Given the description of an element on the screen output the (x, y) to click on. 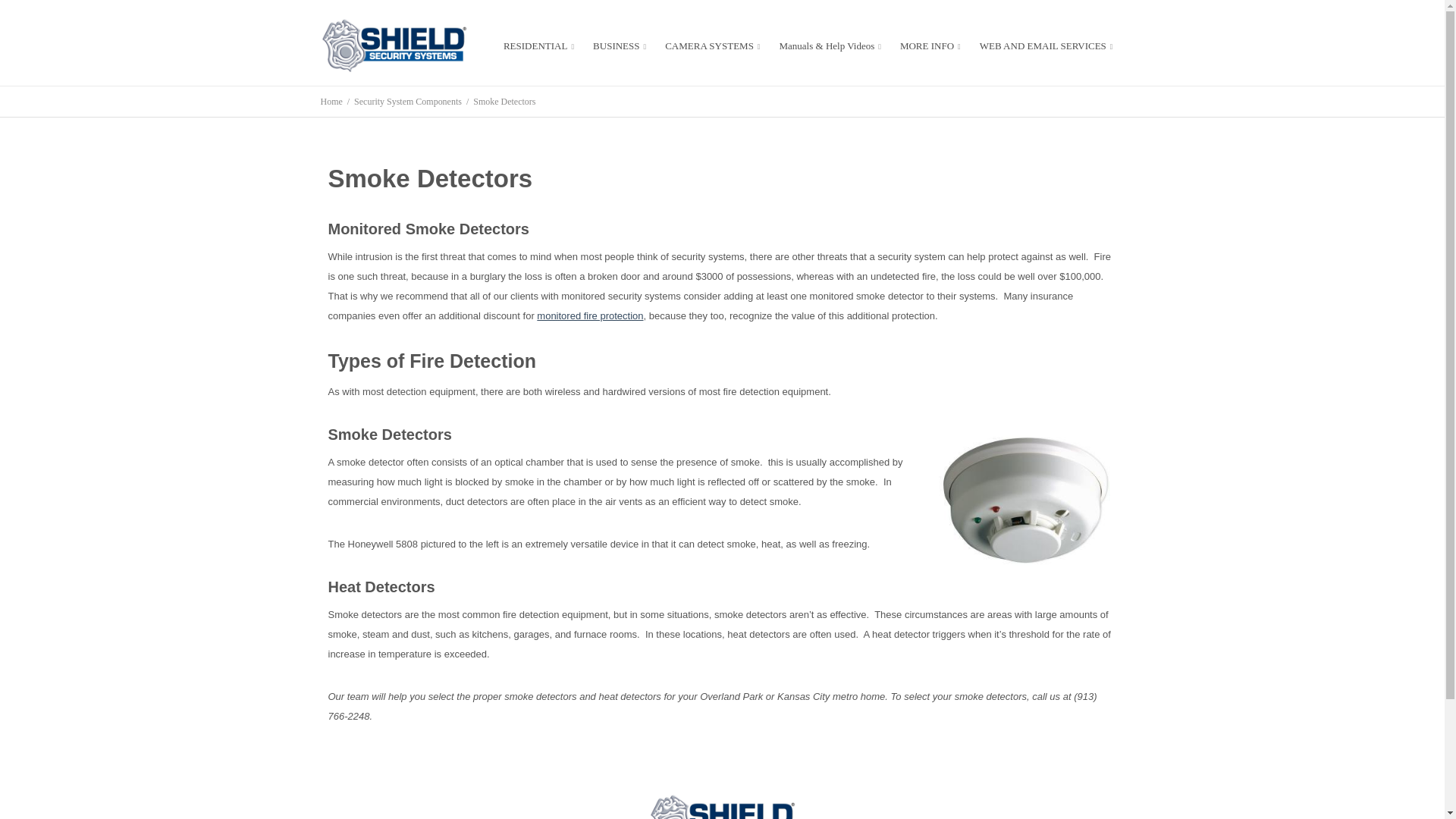
BUSINESS (620, 46)
AREA INFO (931, 46)
Video Surveillance (713, 46)
CAMERA SYSTEMS (713, 46)
RESIDENTIAL (540, 46)
MORE INFO (931, 46)
